Given the description of an element on the screen output the (x, y) to click on. 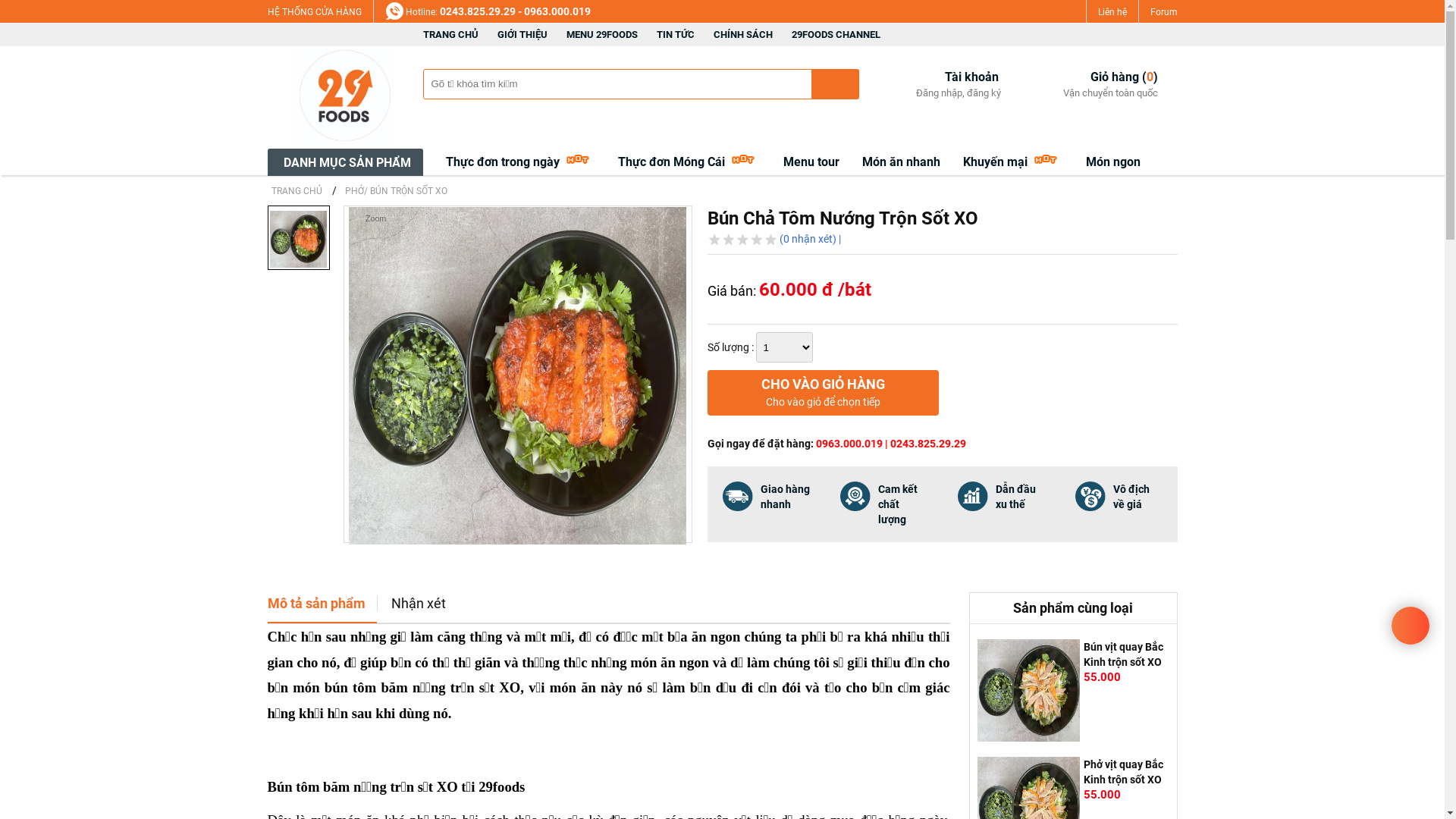
29FOODS CHANNEL Element type: text (835, 34)
Forum Element type: text (1162, 11)
Zoom Element type: text (517, 375)
MENU 29FOODS Element type: text (601, 34)
Menu tour Element type: text (810, 161)
